Given the description of an element on the screen output the (x, y) to click on. 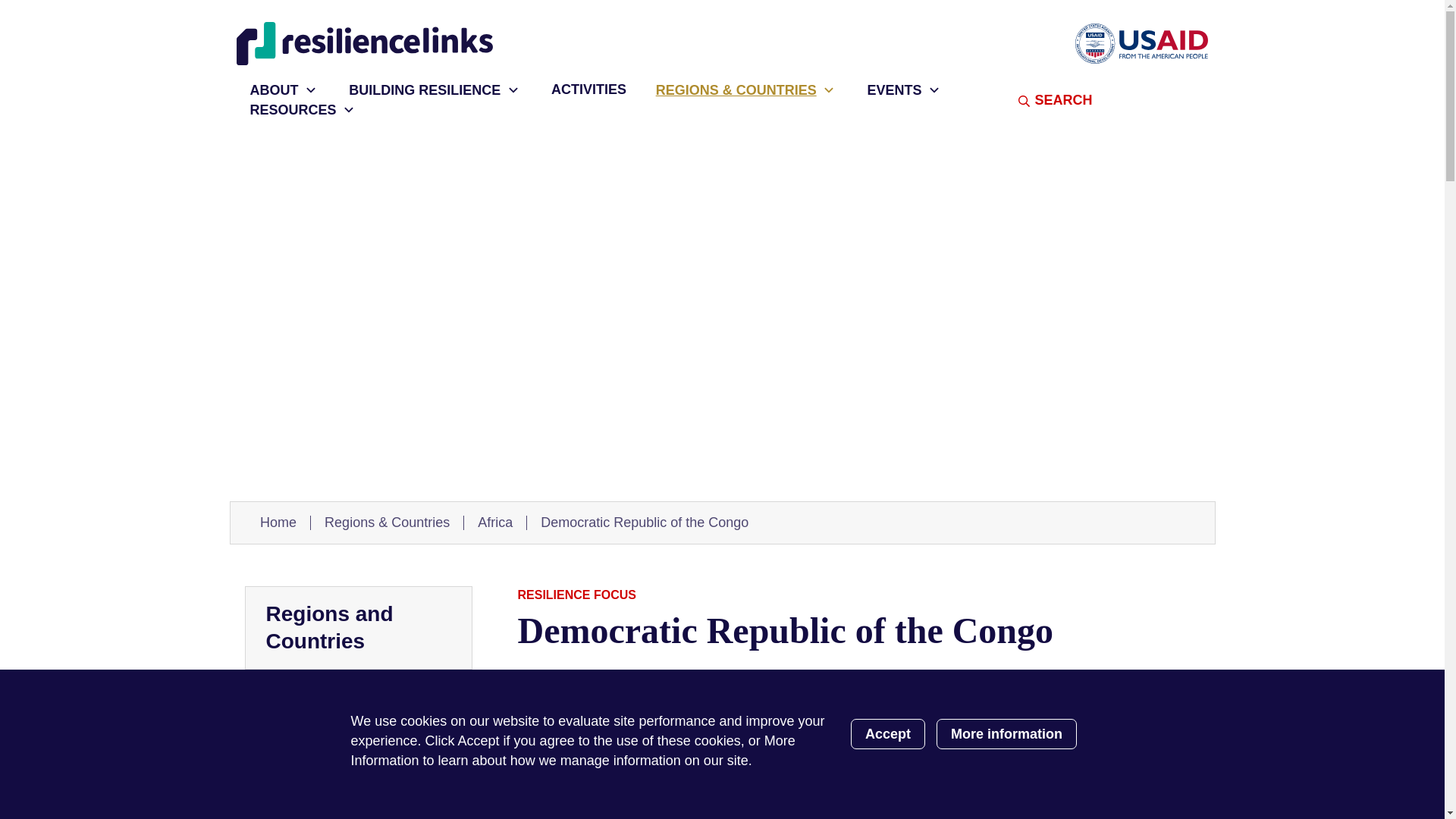
Toggle sub-menu (349, 109)
Home (367, 43)
Democratic Republic of the Congo (353, 804)
ABOUT (266, 89)
Democratic Republic of the Congo (644, 522)
Toggle sub-menu (933, 89)
Toggle sub-menu (829, 89)
ACTIVITIES (581, 89)
SEARCH (1032, 100)
